Given the description of an element on the screen output the (x, y) to click on. 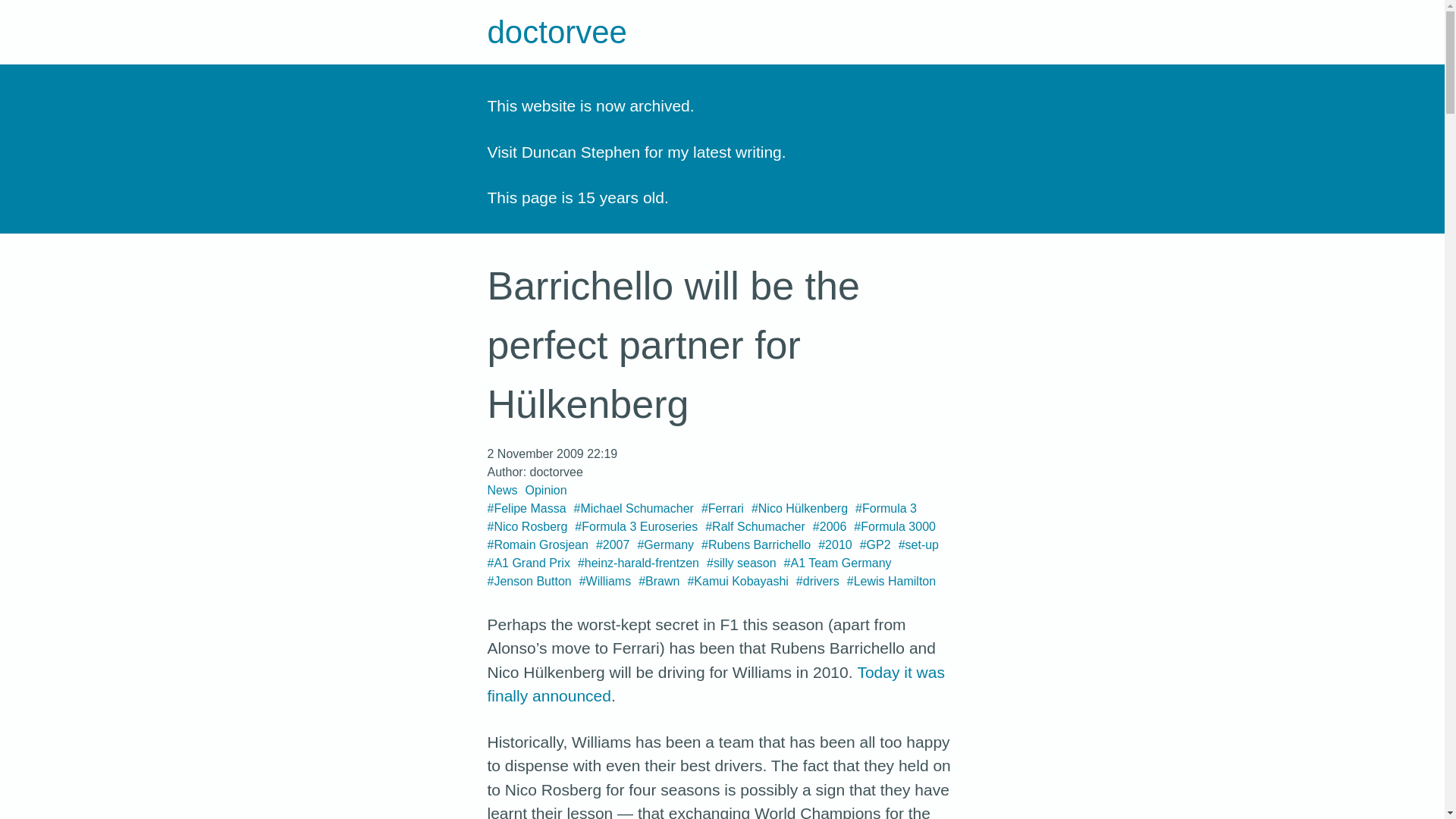
silly season (741, 562)
A1 Grand Prix (527, 562)
Ferrari (722, 508)
Visit Duncan Stephen for my latest writing (633, 150)
2007 (612, 544)
Today it was finally announced (714, 683)
GP2 (875, 544)
Michael Schumacher (633, 508)
heinz-harald-frentzen (638, 562)
Formula 3 Euroseries (636, 526)
Brawn (659, 581)
Nico Rosberg (526, 526)
set-up (918, 544)
2010 (834, 544)
Ralf Schumacher (754, 526)
